Given the description of an element on the screen output the (x, y) to click on. 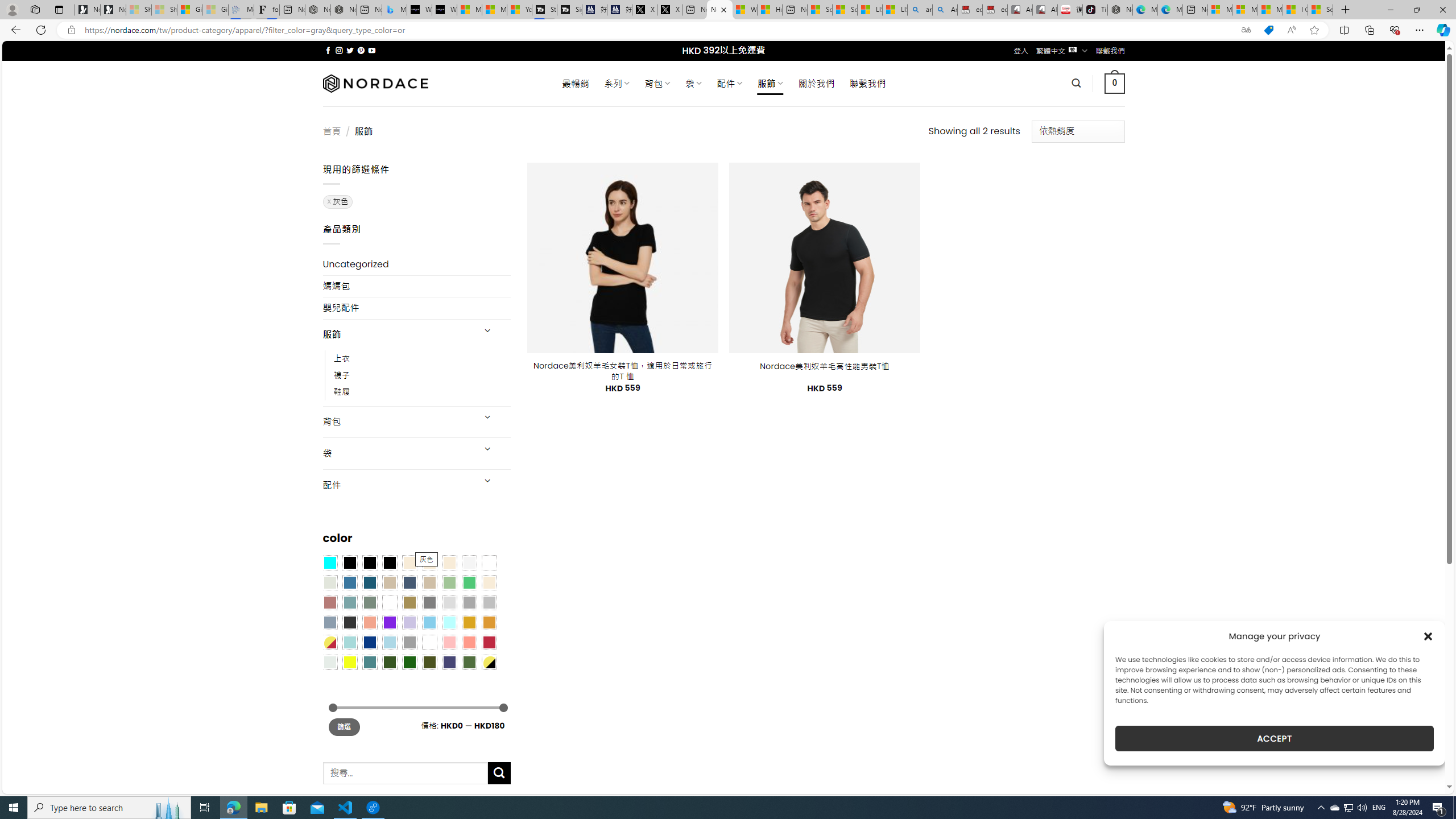
Class: cmplz-close (1428, 636)
Newsletter Sign Up (113, 9)
ACCEPT (1274, 738)
